Given the description of an element on the screen output the (x, y) to click on. 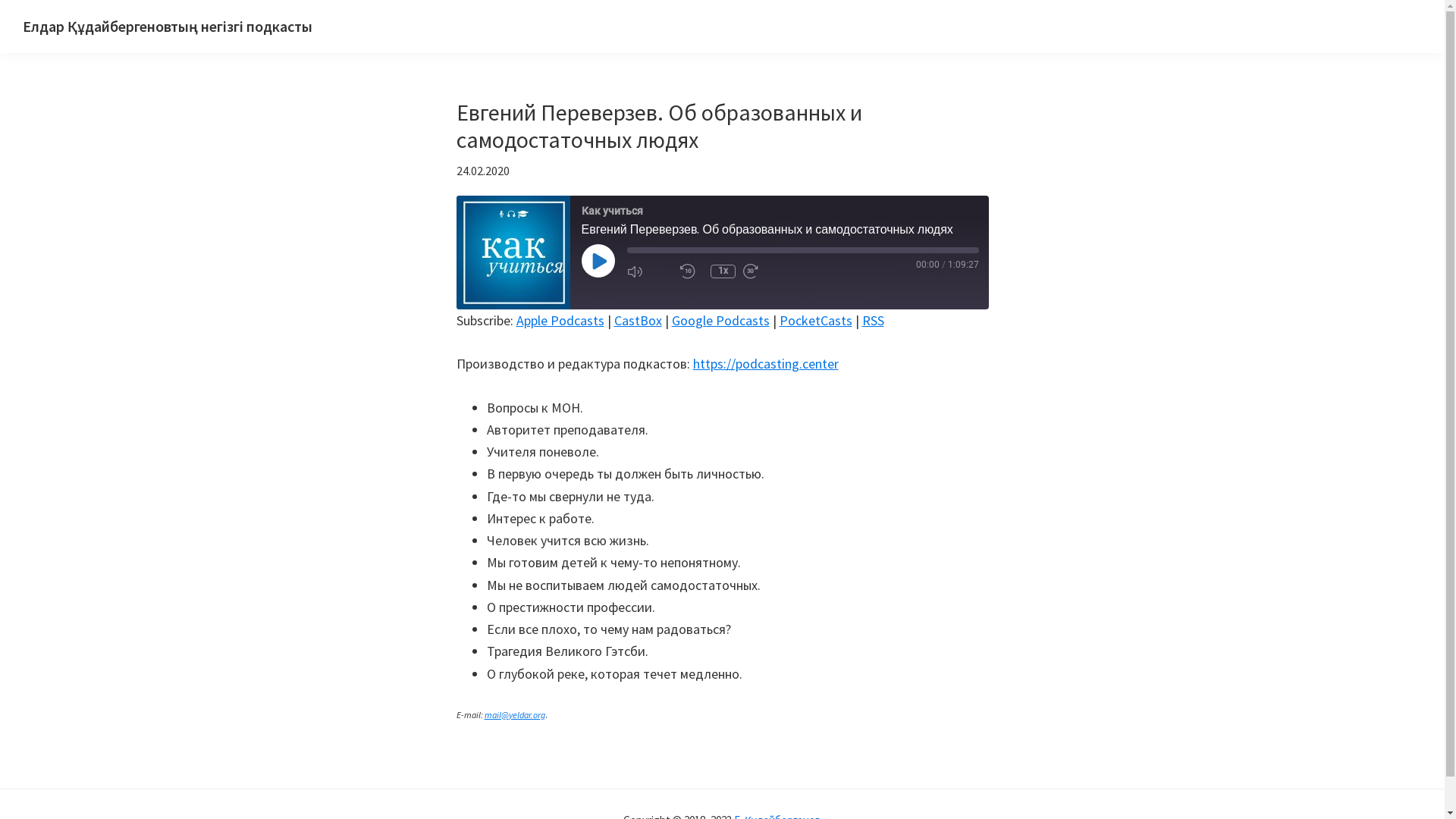
CastBox Element type: text (638, 320)
Play Episode Element type: text (597, 260)
RSS Element type: text (872, 320)
PocketCasts Element type: text (815, 320)
mail@yeldar.org Element type: text (513, 714)
Skip to main content Element type: text (0, 0)
Fast Forward 30 seconds Element type: text (765, 271)
https://podcasting.center Element type: text (765, 363)
Rewind 10 Seconds Element type: text (690, 271)
Apple Podcasts Element type: text (559, 320)
Mute/Unmute Episode Element type: text (648, 271)
1x Element type: text (721, 271)
Seek Element type: hover (802, 250)
Google Podcasts Element type: text (720, 320)
